Given the description of an element on the screen output the (x, y) to click on. 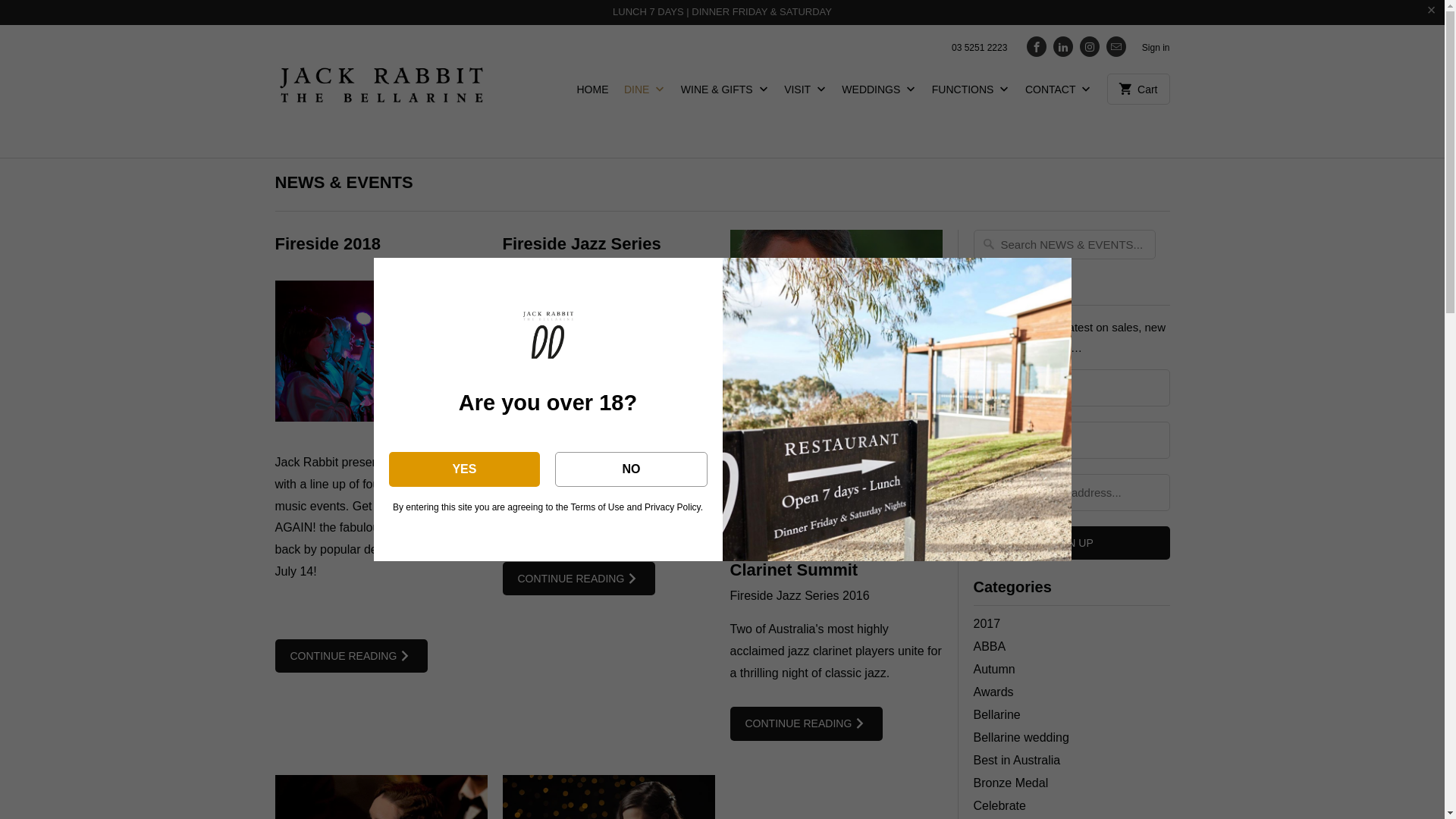
Awards Element type: text (993, 691)
Email Jack Rabbit Vineyard Element type: hover (1116, 46)
Bellarine wedding Element type: text (1021, 737)
Bronze Medal Element type: text (1010, 782)
Jack Rabbit Vineyard Element type: hover (380, 91)
Fireside 2018 Element type: text (326, 243)
Jack Rabbit Vineyard on LinkedIn Element type: hover (1063, 46)
FUNCTIONS Element type: text (970, 93)
Sign in Element type: text (1156, 51)
Terms of Use Element type: text (597, 507)
Fireside Jazz Series Element type: text (581, 243)
03 5251 2223 Element type: text (979, 51)
CONTINUE READING Element type: text (578, 578)
WINE & GIFTS Element type: text (724, 93)
Bellarine Element type: text (996, 714)
VISIT Element type: text (805, 93)
Jack Rabbit Vineyard on Instagram Element type: hover (1089, 46)
CONTINUE READING Element type: text (350, 656)
YES Element type: text (463, 468)
Best in Australia Element type: text (1016, 759)
NEWS & EVENTS Element type: text (343, 181)
Privacy Policy Element type: text (672, 507)
DINE Element type: text (644, 93)
CONTACT Element type: text (1058, 93)
Clarinet Summit Element type: text (793, 569)
2017 Element type: text (987, 623)
HOME Element type: text (592, 92)
Sign Up Element type: text (1071, 542)
WEDDINGS Element type: text (878, 93)
Celebrate Element type: text (999, 805)
Jack Rabbit Vineyard on Facebook Element type: hover (1036, 46)
Autumn Element type: text (994, 668)
NO Element type: text (630, 468)
Cart Element type: text (1138, 88)
Clarinet Summit Element type: hover (835, 389)
ABBA Element type: text (989, 646)
CONTINUE READING Element type: text (805, 723)
